Given the description of an element on the screen output the (x, y) to click on. 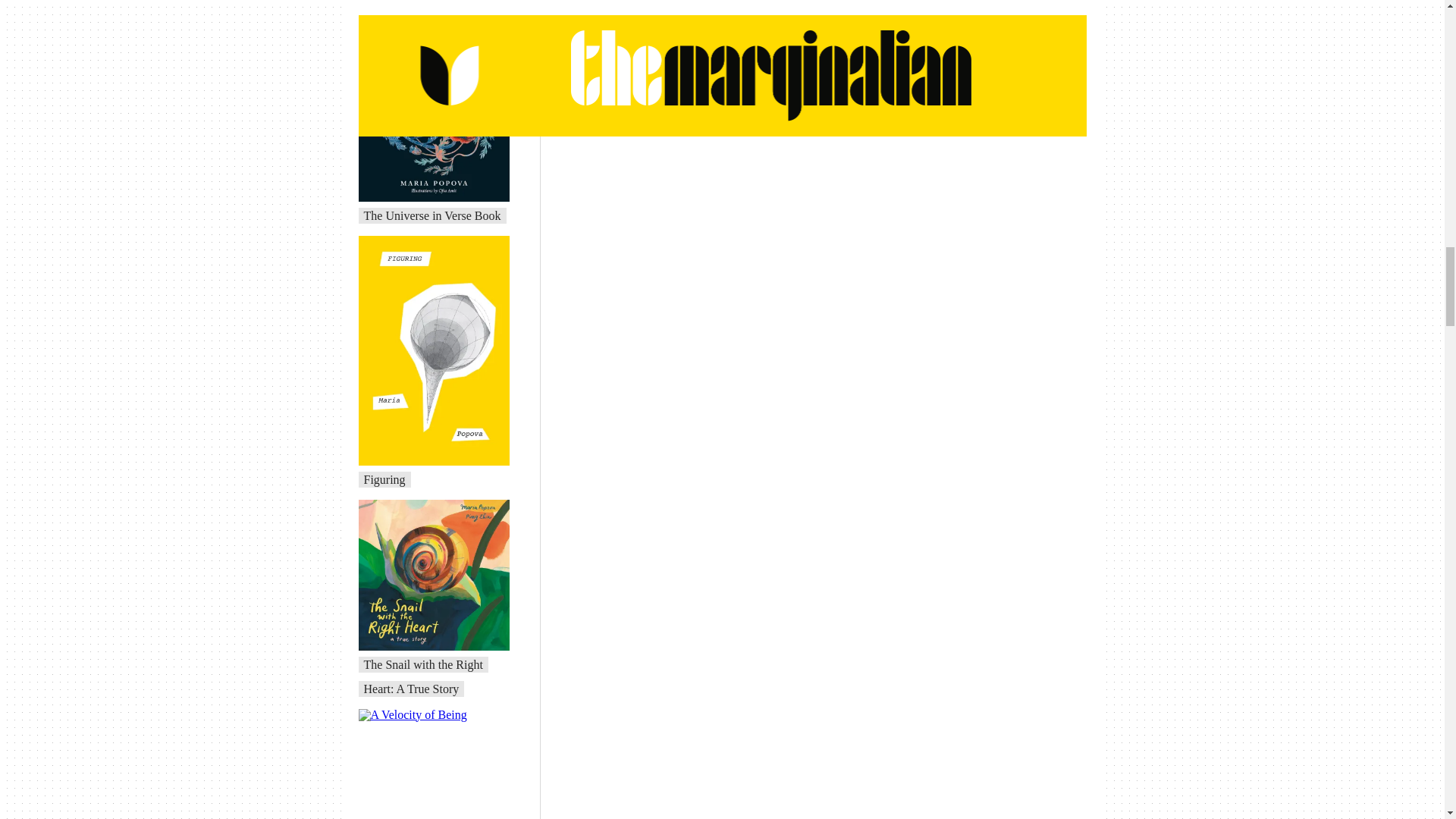
Figuring (385, 479)
The Universe in Verse Book (432, 215)
The Snail with the Right Heart: A True Story (423, 676)
